Given the description of an element on the screen output the (x, y) to click on. 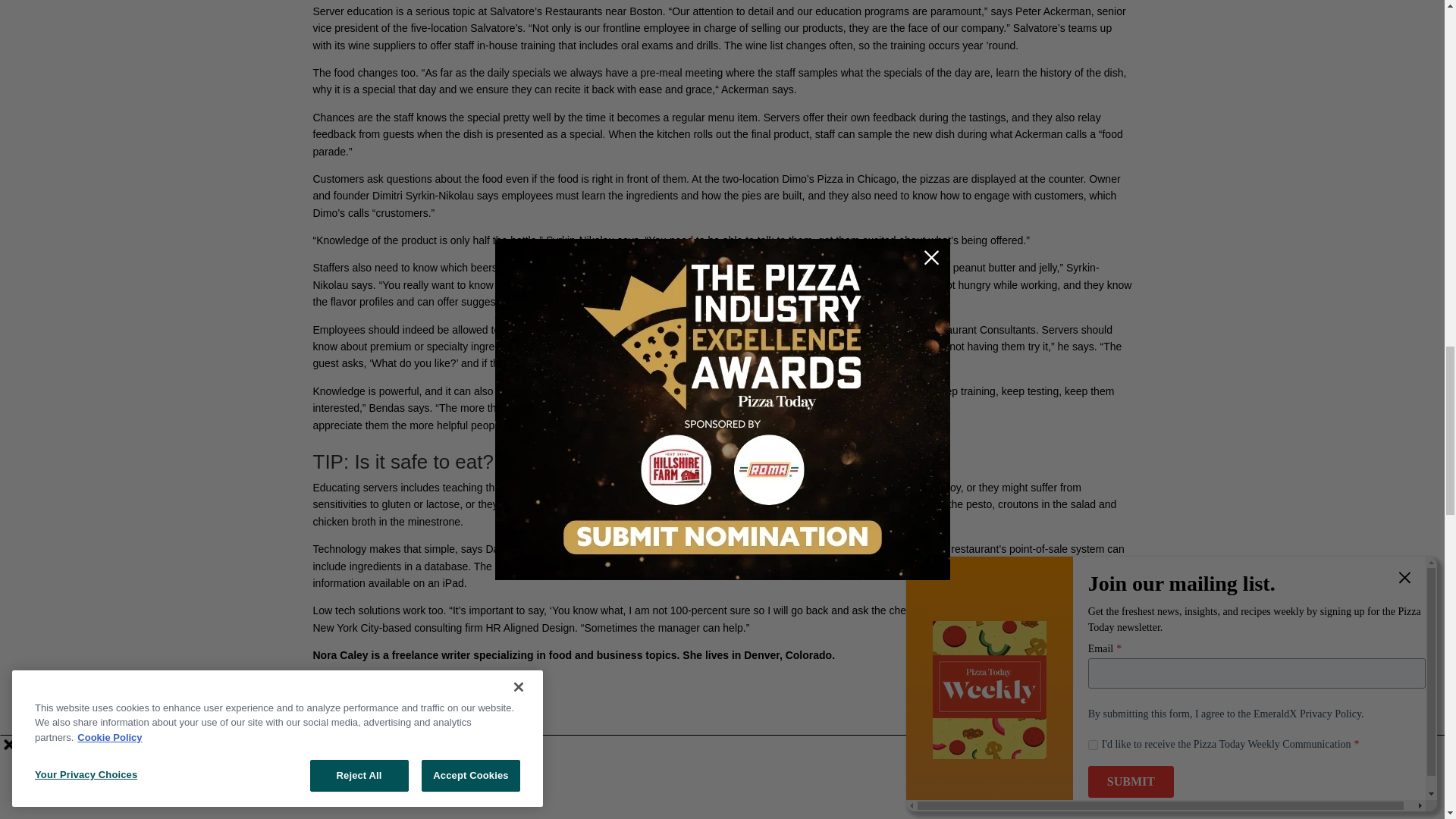
3rd party ad content (721, 724)
